Given the description of an element on the screen output the (x, y) to click on. 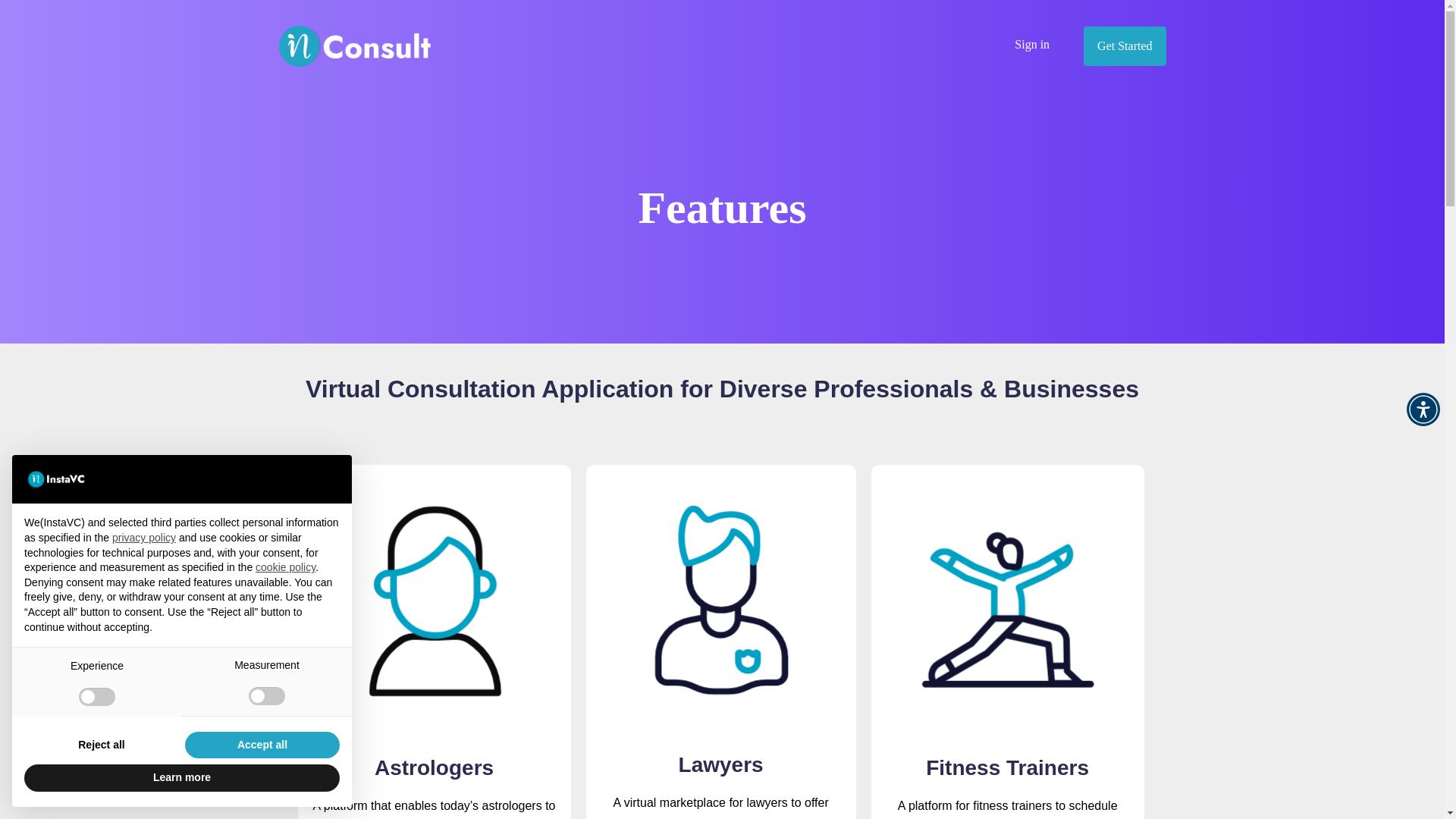
Sign in (1031, 44)
cookie policy (285, 567)
Accept all (261, 745)
Accessibility Menu (1422, 409)
false (96, 696)
Reject all (101, 745)
Learn more (181, 777)
Get Started (1124, 46)
privacy policy (144, 537)
false (266, 696)
